Given the description of an element on the screen output the (x, y) to click on. 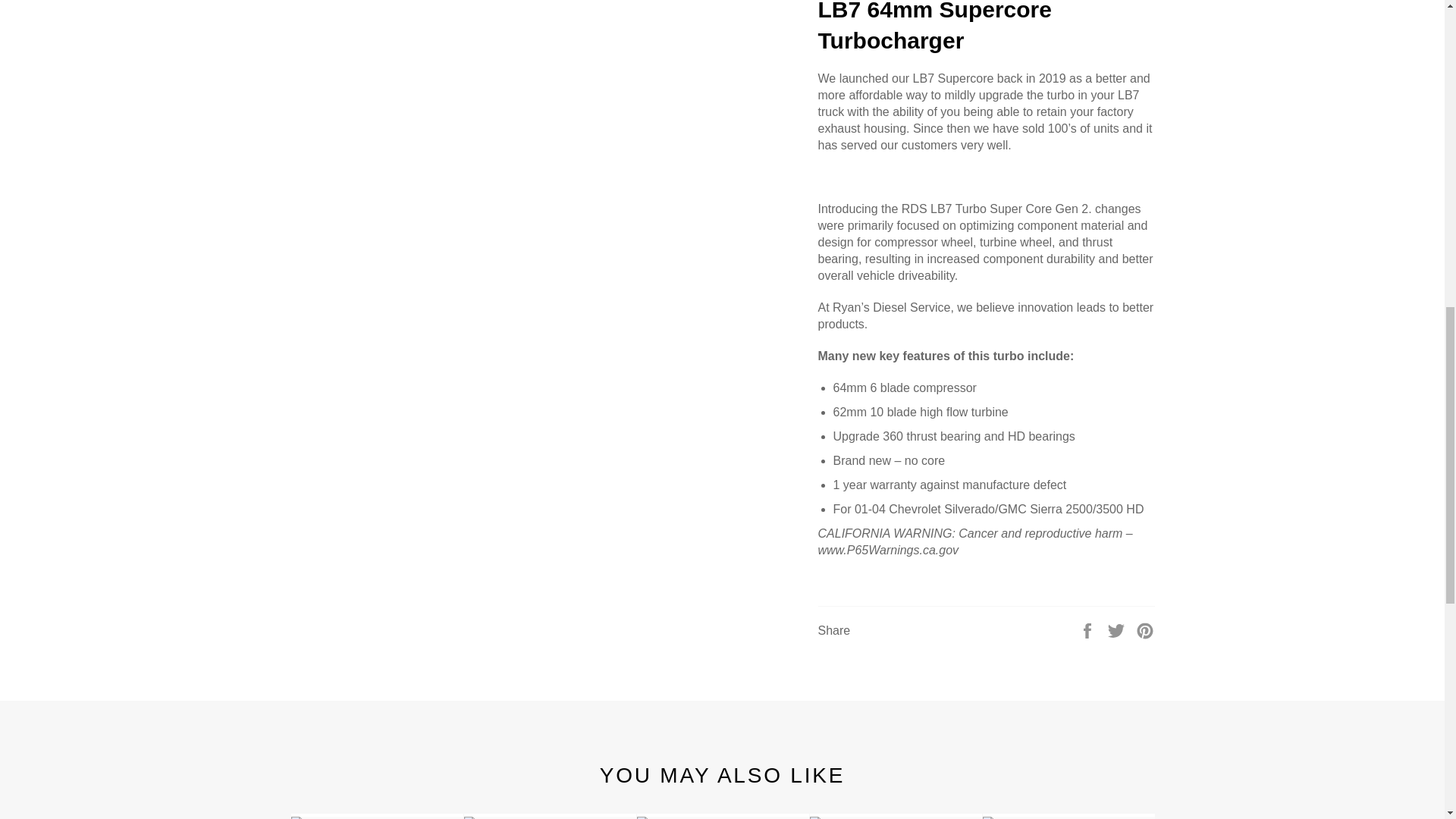
Share on Facebook (1088, 629)
Tweet on Twitter (1117, 629)
Tweet on Twitter (1117, 629)
Share on Facebook (1088, 629)
Pin on Pinterest (1144, 629)
Pin on Pinterest (1144, 629)
